Given the description of an element on the screen output the (x, y) to click on. 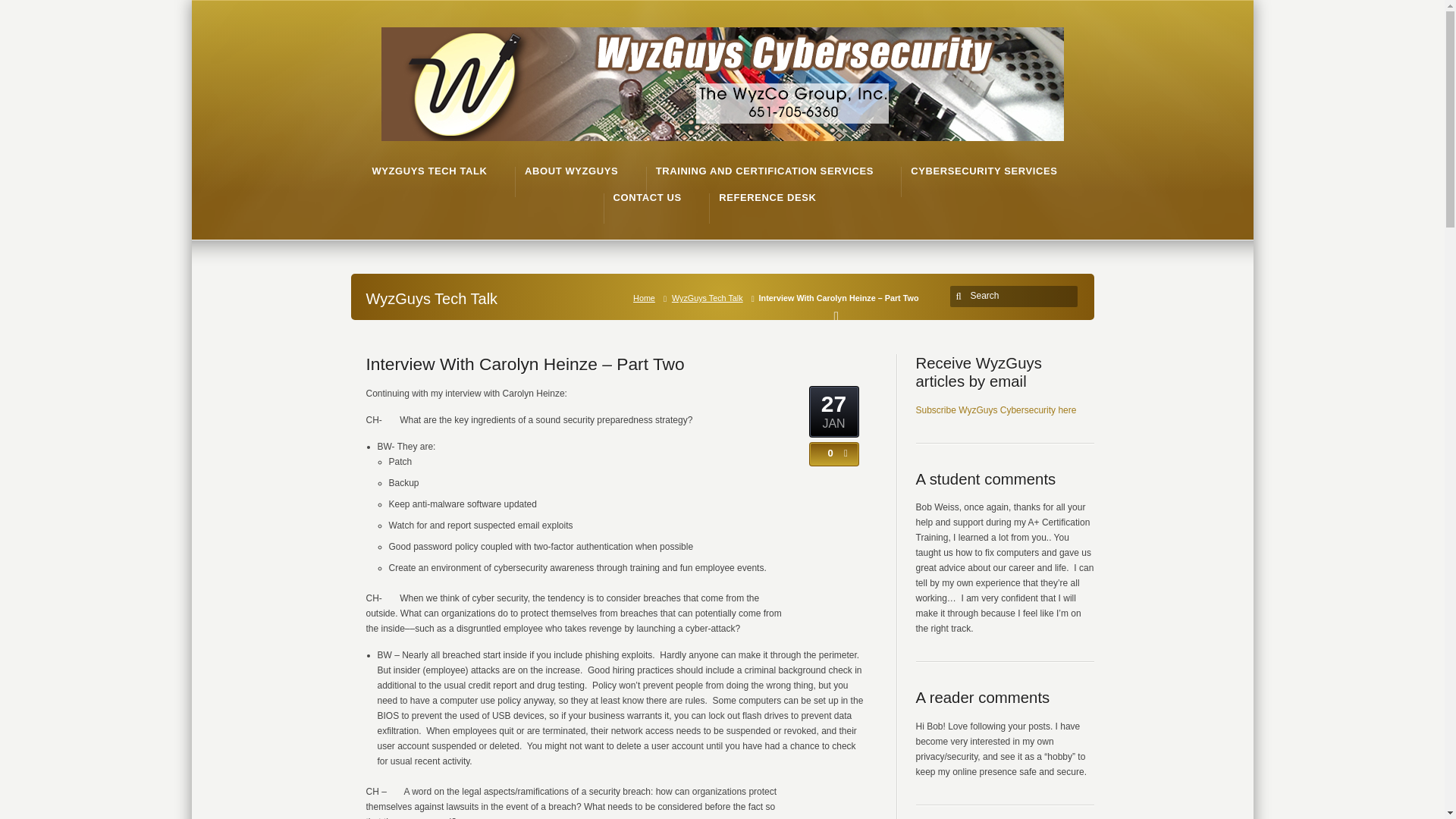
CYBERSECURITY SERVICES (984, 171)
WYZGUYS TECH TALK (428, 171)
ABOUT WYZGUYS (570, 171)
Home (646, 297)
REFERENCE DESK (767, 197)
WyzGuys Tech Talk (710, 297)
TRAINING AND CERTIFICATION SERVICES (764, 171)
CONTACT US (646, 197)
Search (1016, 295)
